Given the description of an element on the screen output the (x, y) to click on. 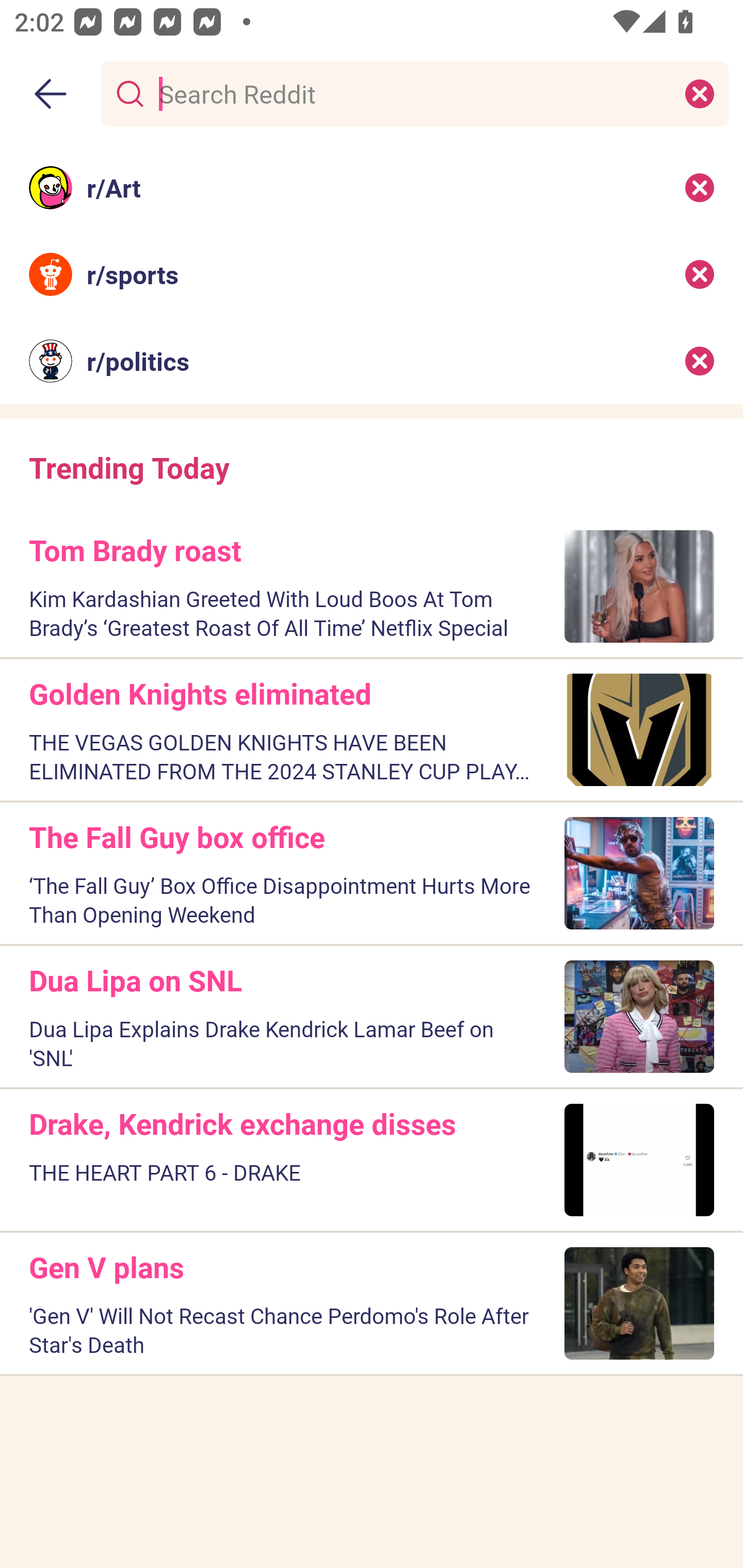
Back (50, 93)
Search Reddit (410, 93)
Clear search (699, 93)
r/Art Recent search: r/Art Remove (371, 187)
Remove (699, 187)
r/sports Recent search: r/sports Remove (371, 274)
Remove (699, 274)
r/politics Recent search: r/politics Remove (371, 361)
Remove (699, 361)
